Given the description of an element on the screen output the (x, y) to click on. 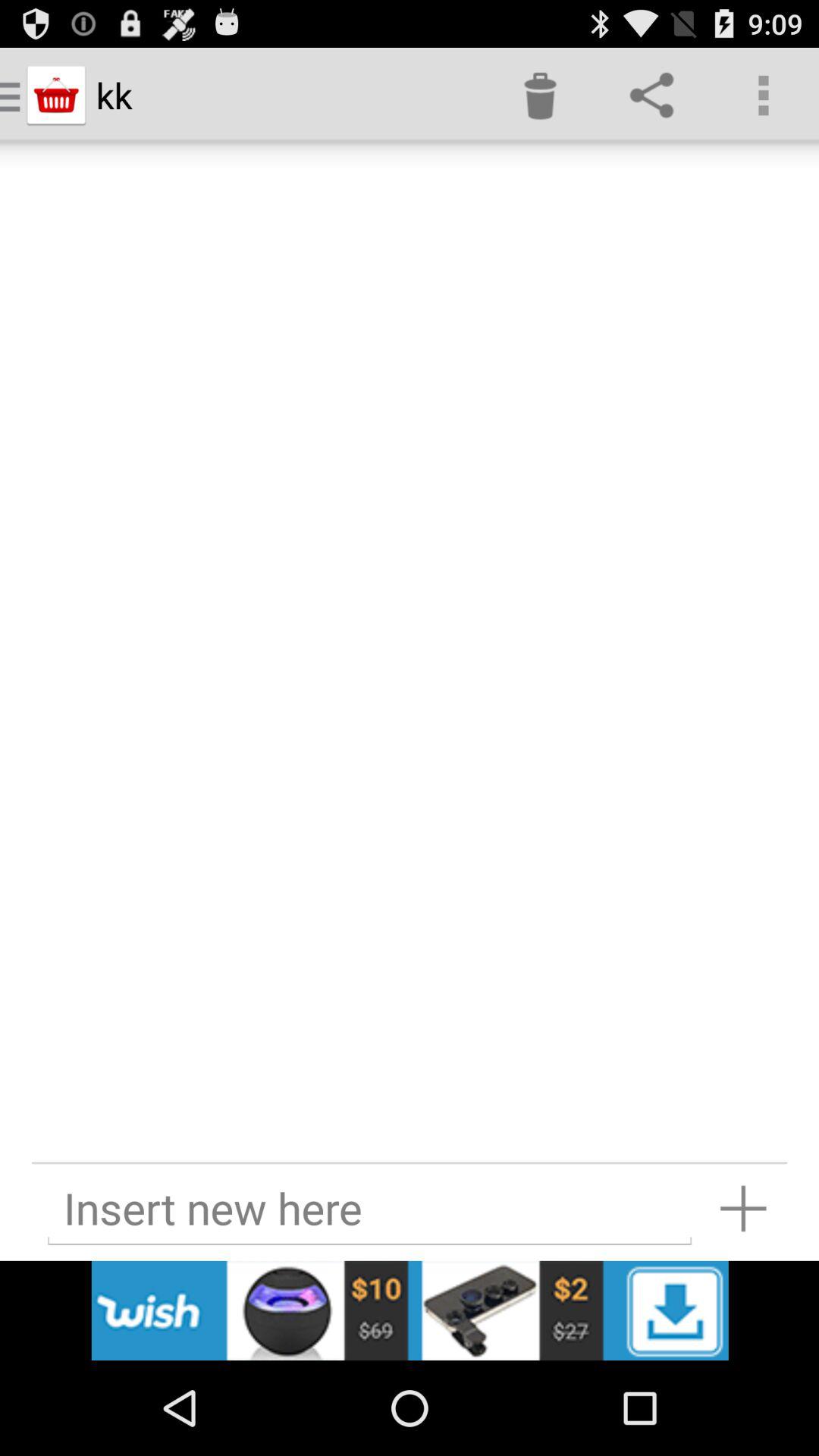
type box (369, 1208)
